Given the description of an element on the screen output the (x, y) to click on. 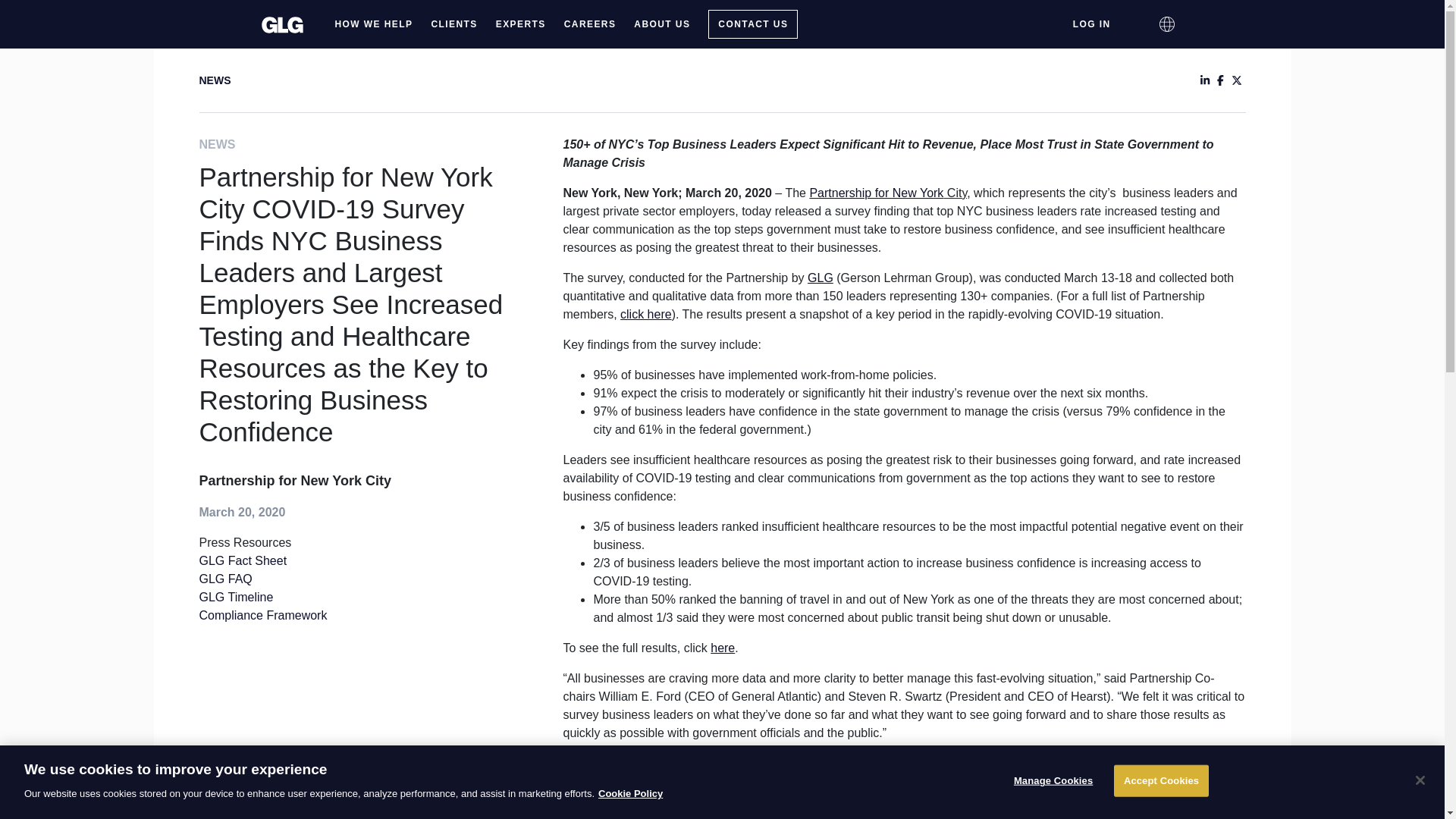
EXPERTS (520, 23)
CLIENTS (454, 23)
HOW WE HELP (374, 23)
CAREERS (590, 23)
